Given the description of an element on the screen output the (x, y) to click on. 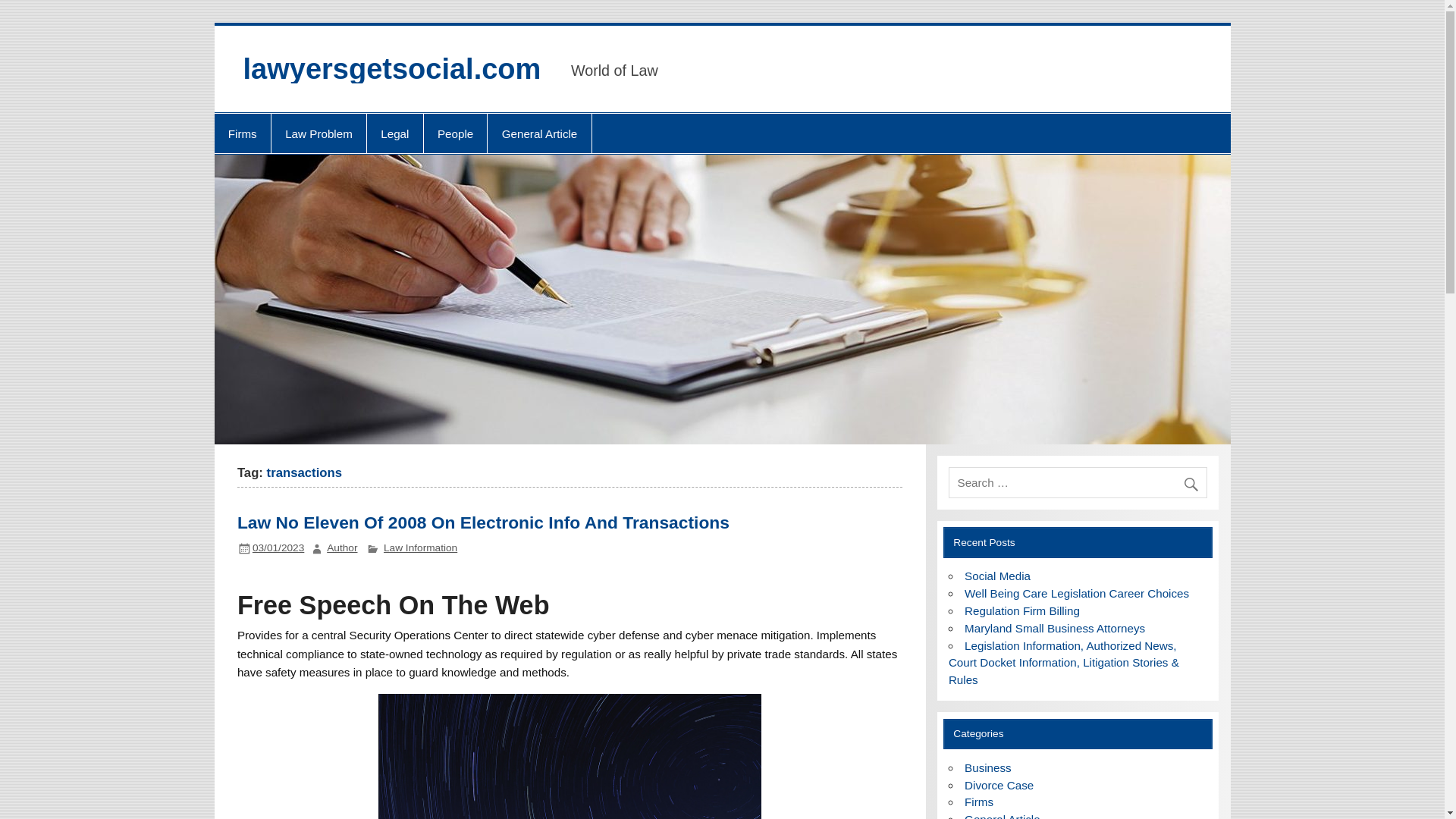
Legal (394, 133)
General Article (539, 133)
Firms (241, 133)
Law No Eleven Of 2008 On Electronic Info And Transactions (483, 522)
lawyersgetsocial.com (391, 69)
View all posts by Author (341, 547)
Law Problem (318, 133)
Law Information (420, 547)
19:47 (277, 547)
Author (341, 547)
